Given the description of an element on the screen output the (x, y) to click on. 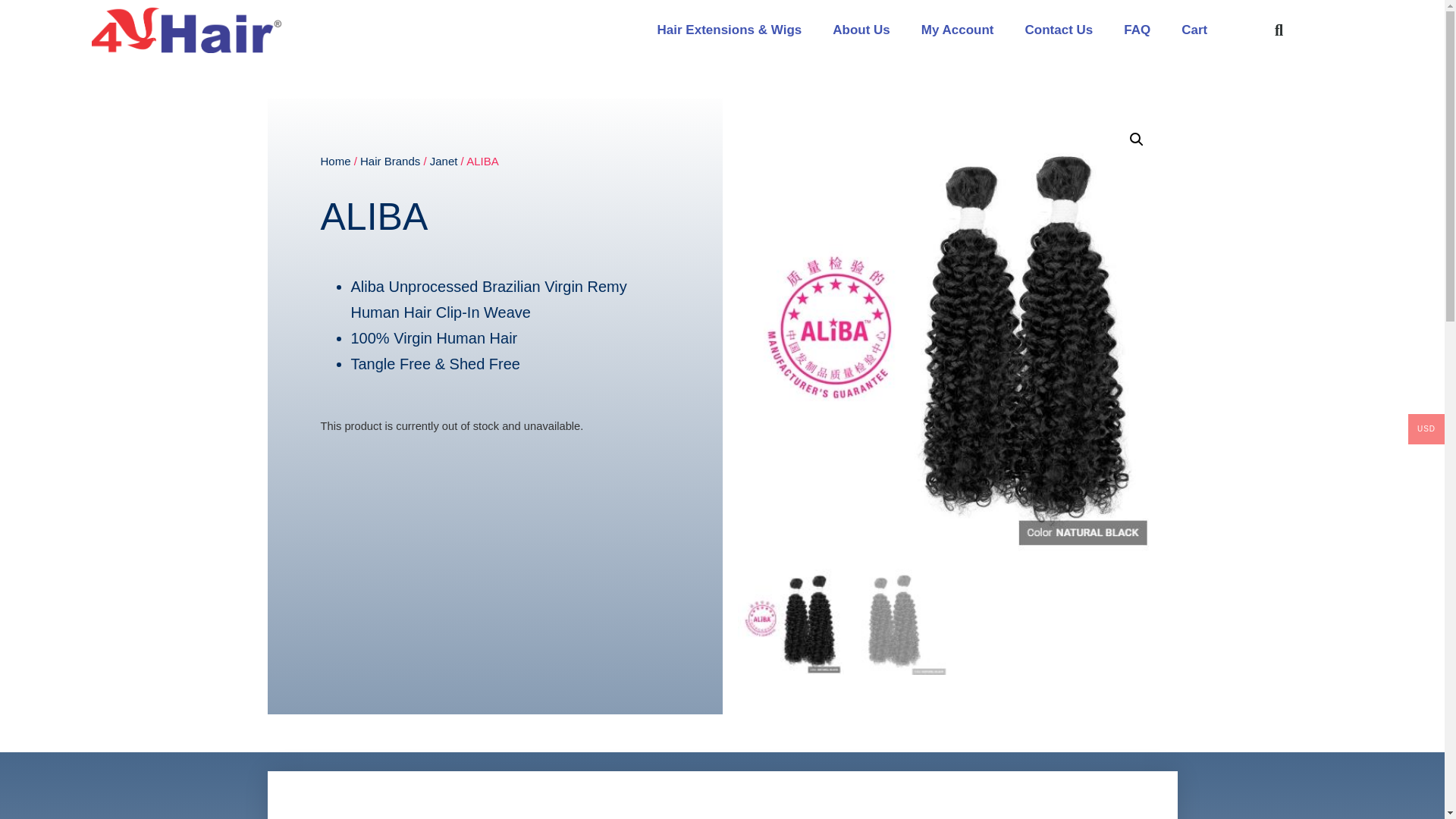
About Us (860, 30)
My Account (957, 30)
FAQ (1137, 30)
Cart (1194, 30)
Contact Us (1059, 30)
